Given the description of an element on the screen output the (x, y) to click on. 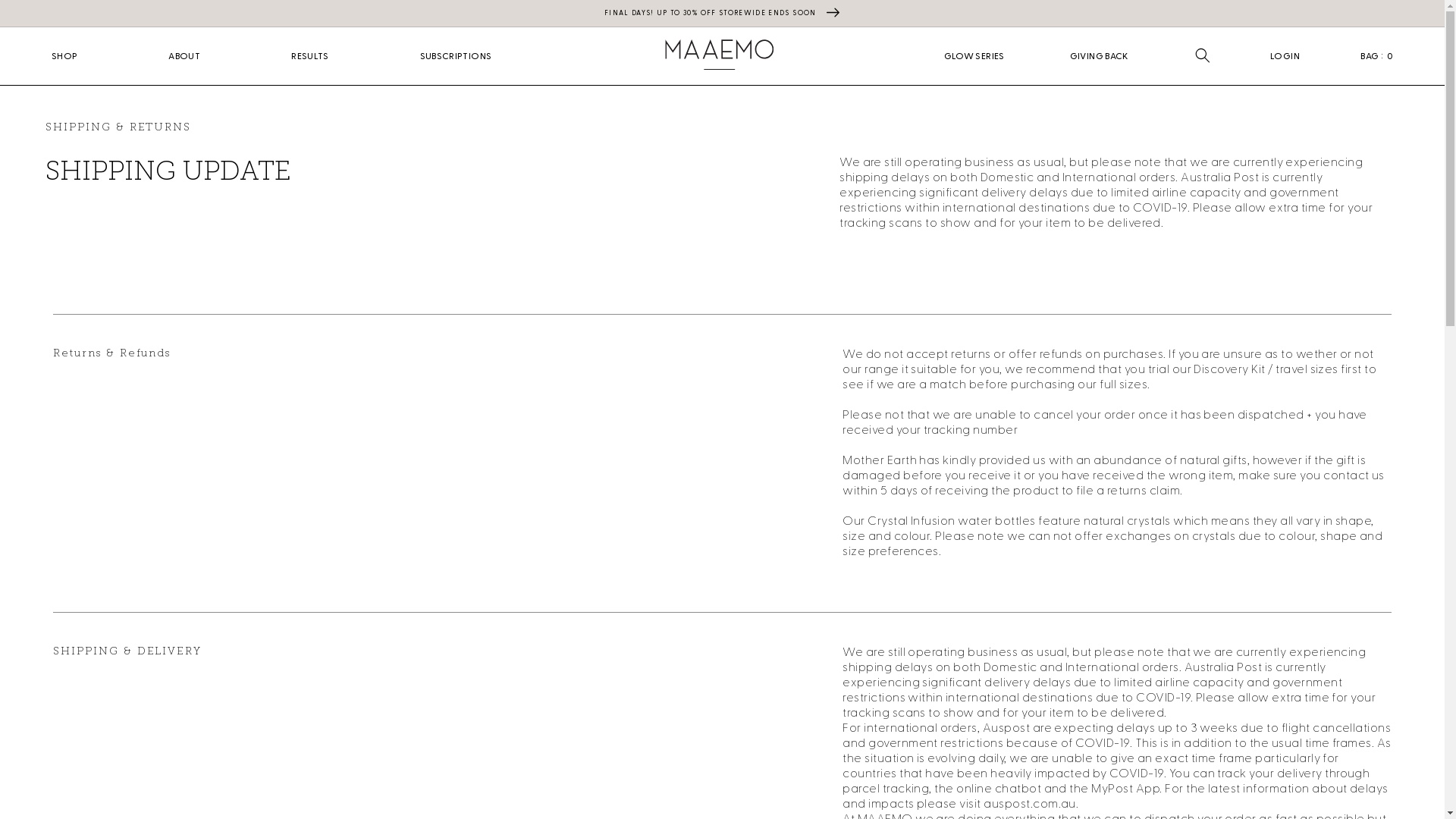
FINAL DAYS! UP TO 30% OFF STOREWIDE ENDS SOON Element type: text (722, 13)
GIVING BACK Element type: text (1098, 55)
SUBSCRIPTIONS Element type: text (455, 55)
LOGIN Element type: text (1285, 55)
SHOP Element type: text (63, 55)
GLOW SERIES Element type: text (974, 55)
RESULTS Element type: text (309, 55)
ABOUT Element type: text (183, 55)
BAG
:
0 Element type: text (1376, 55)
